Given the description of an element on the screen output the (x, y) to click on. 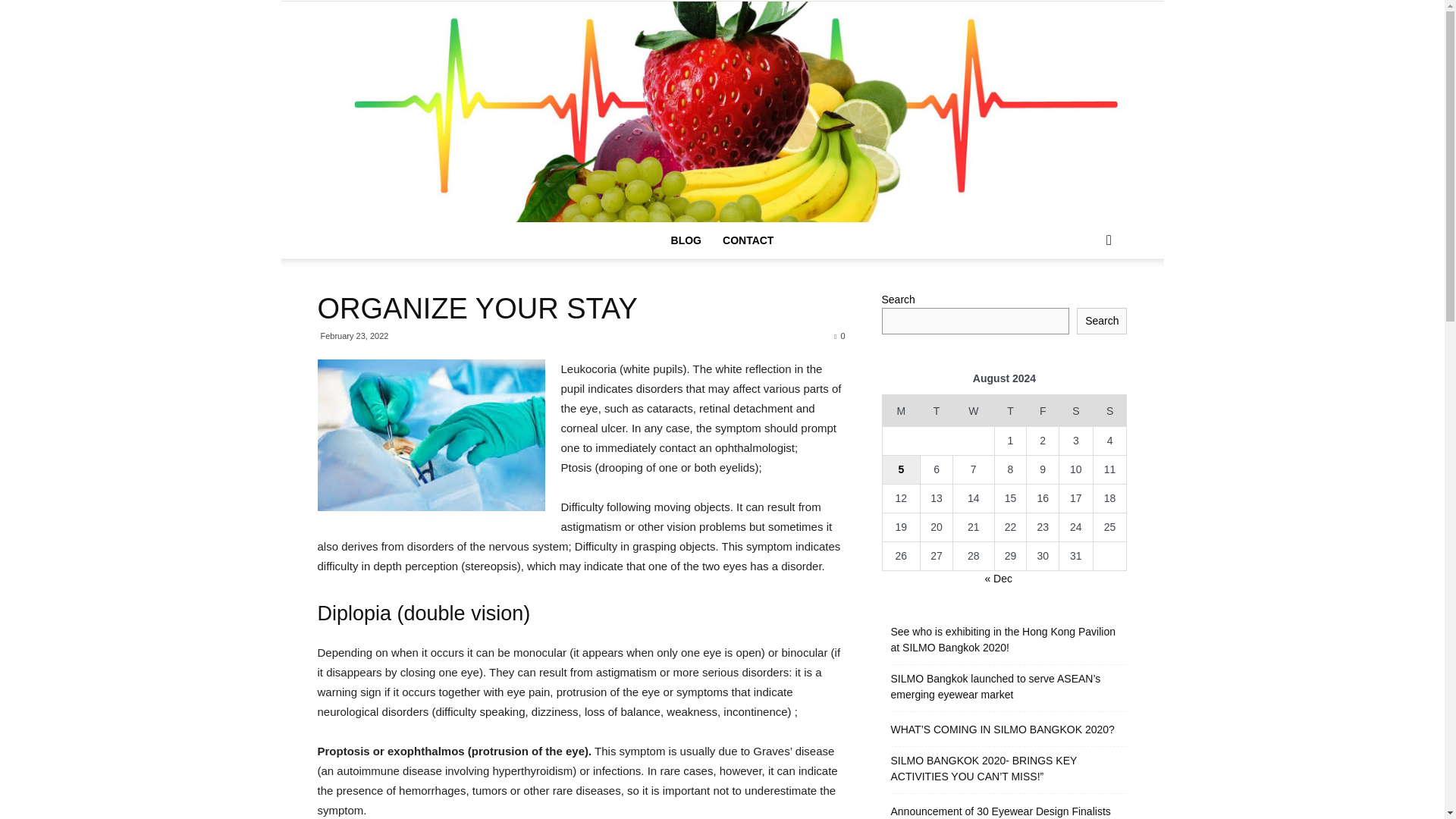
Announcement of 30 Eyewear Design Finalists (999, 811)
Monday (901, 409)
Saturday (1076, 409)
Thursday (1010, 409)
Wednesday (973, 409)
CONTACT (747, 239)
BLOG (686, 239)
Search (1101, 320)
0 (839, 335)
Search (1085, 300)
Friday (1042, 409)
Tuesday (936, 409)
Sunday (1109, 409)
